Given the description of an element on the screen output the (x, y) to click on. 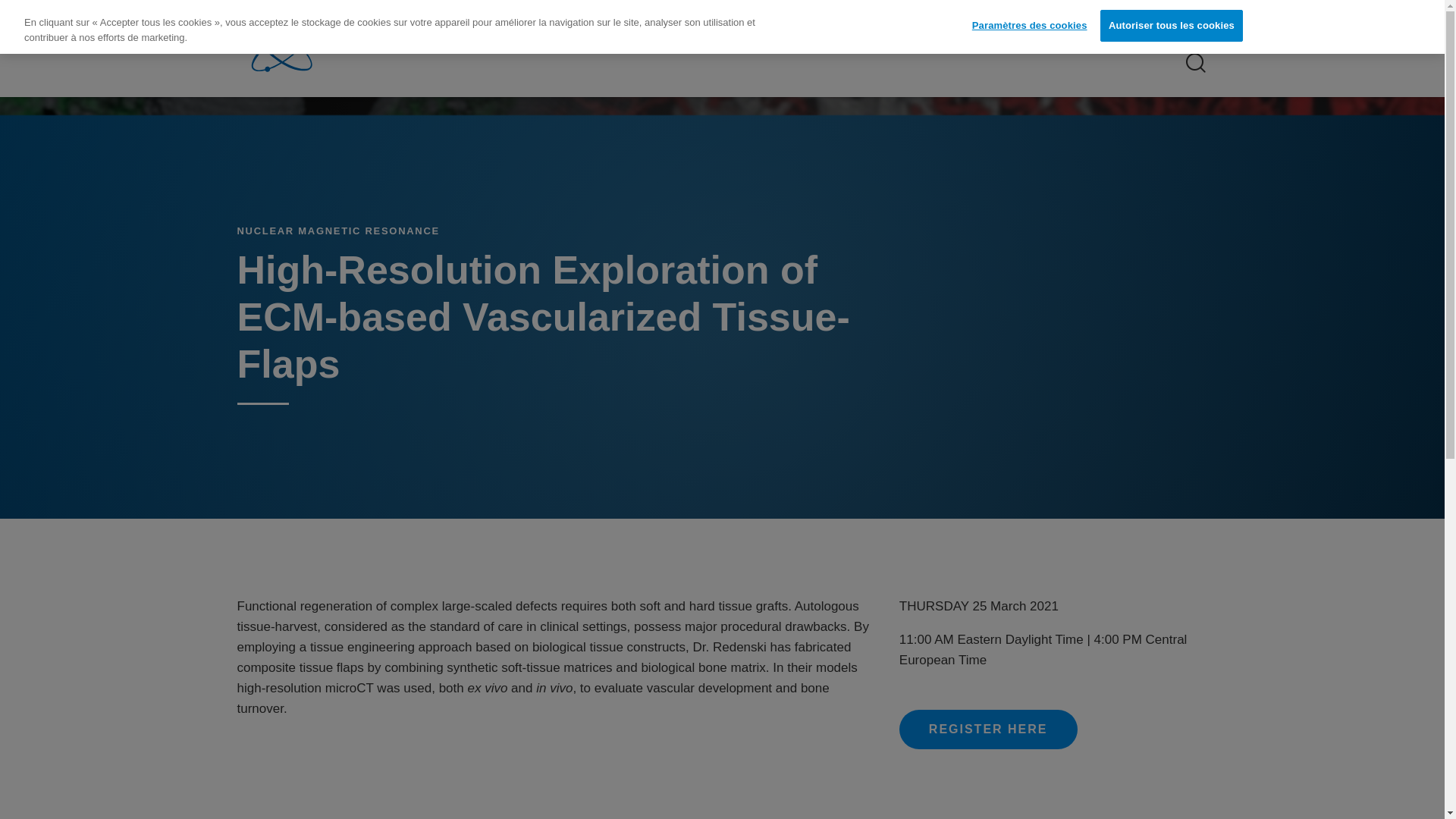
CONTACTER L'EXPERT (1142, 26)
Autoriser tous les cookies (1171, 25)
REGISTER HERE (988, 729)
CONTACTER L'EXPERT (1141, 27)
MY BRUKER (1015, 26)
